Given the description of an element on the screen output the (x, y) to click on. 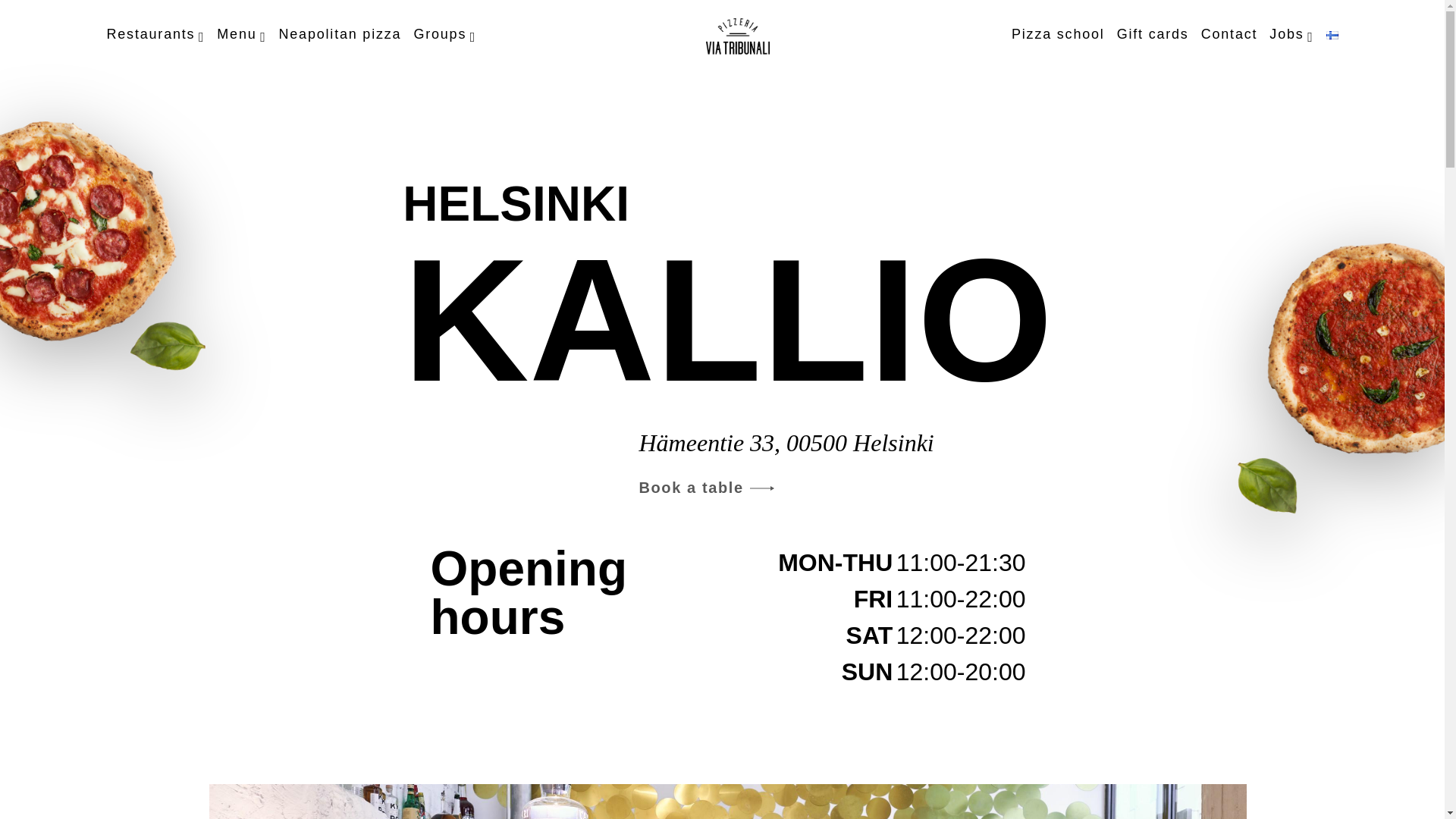
Contact (1229, 34)
Pizza school (1058, 34)
Jobs (1291, 35)
Menu (241, 35)
Groups (444, 35)
Neapolitan pizza (340, 34)
Menu (241, 35)
Restaurants (155, 35)
Gift cards (1152, 34)
Restaurants (155, 35)
